Given the description of an element on the screen output the (x, y) to click on. 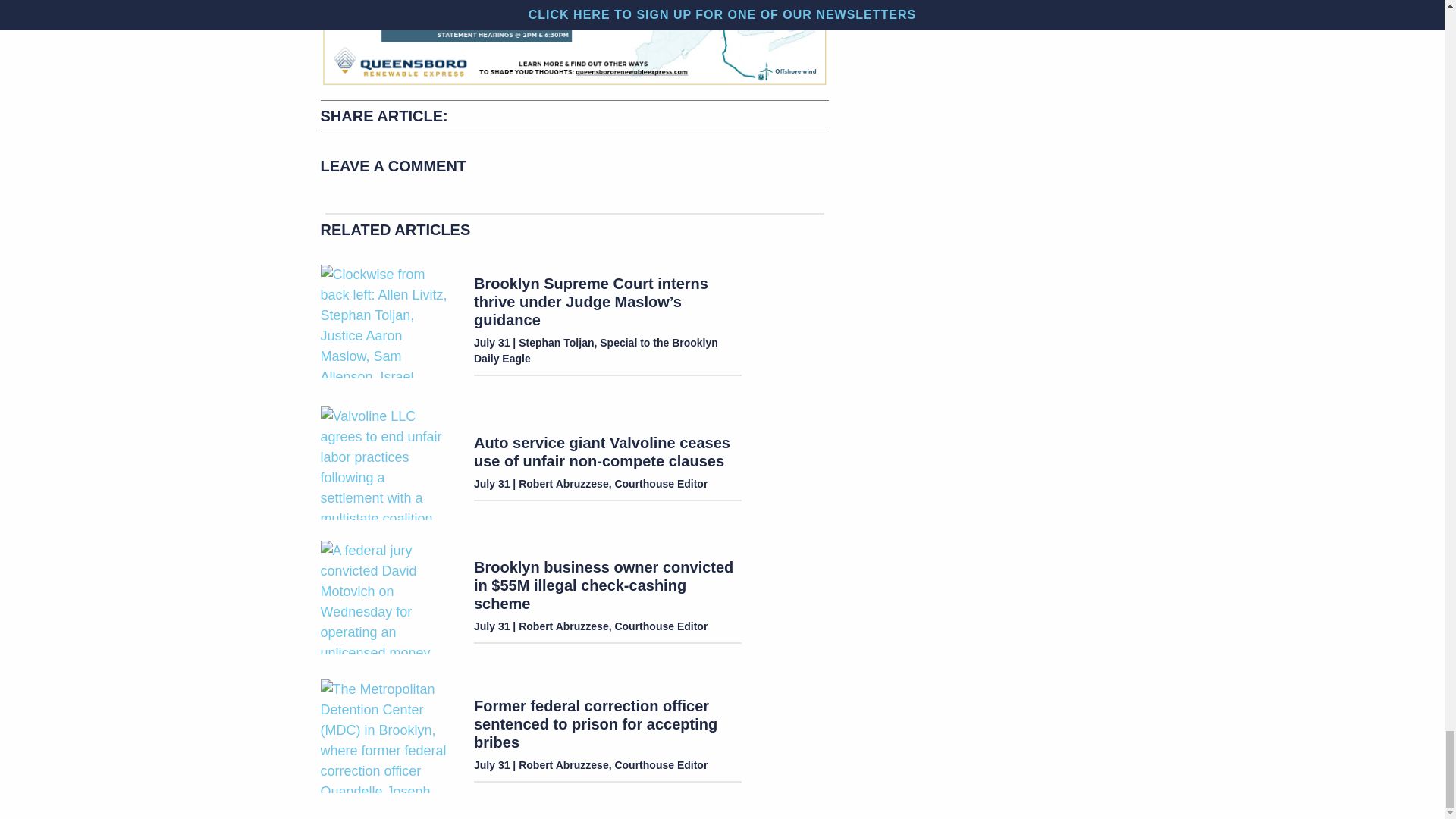
Leave a Comment (574, 169)
